Given the description of an element on the screen output the (x, y) to click on. 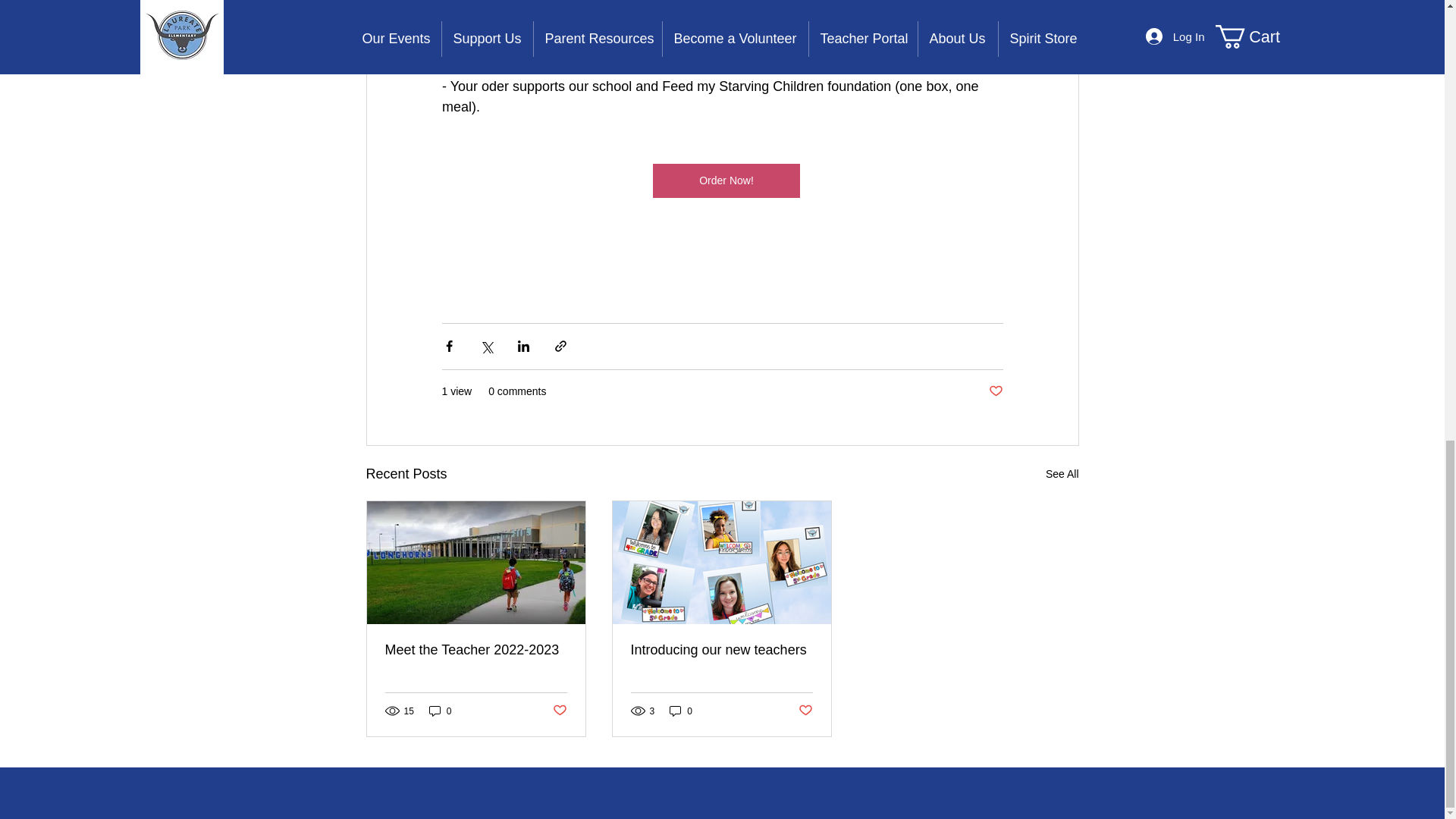
Post not marked as liked (558, 710)
0 (440, 710)
0 (681, 710)
Meet the Teacher 2022-2023 (476, 650)
Introducing our new teachers (721, 650)
Post not marked as liked (804, 710)
See All (1061, 474)
Post not marked as liked (995, 391)
Order Now! (725, 180)
